Given the description of an element on the screen output the (x, y) to click on. 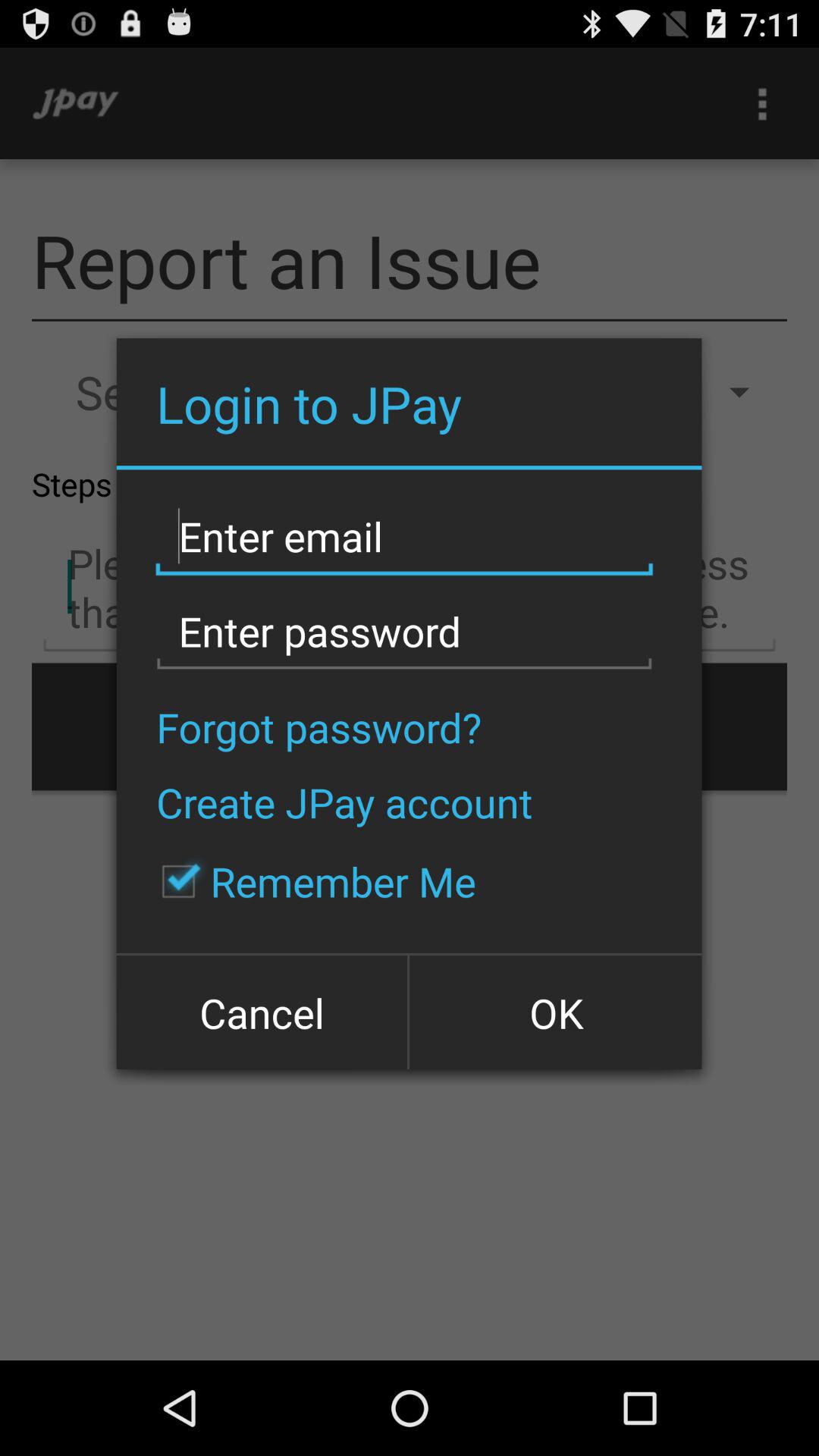
flip to the remember me item (311, 881)
